Given the description of an element on the screen output the (x, y) to click on. 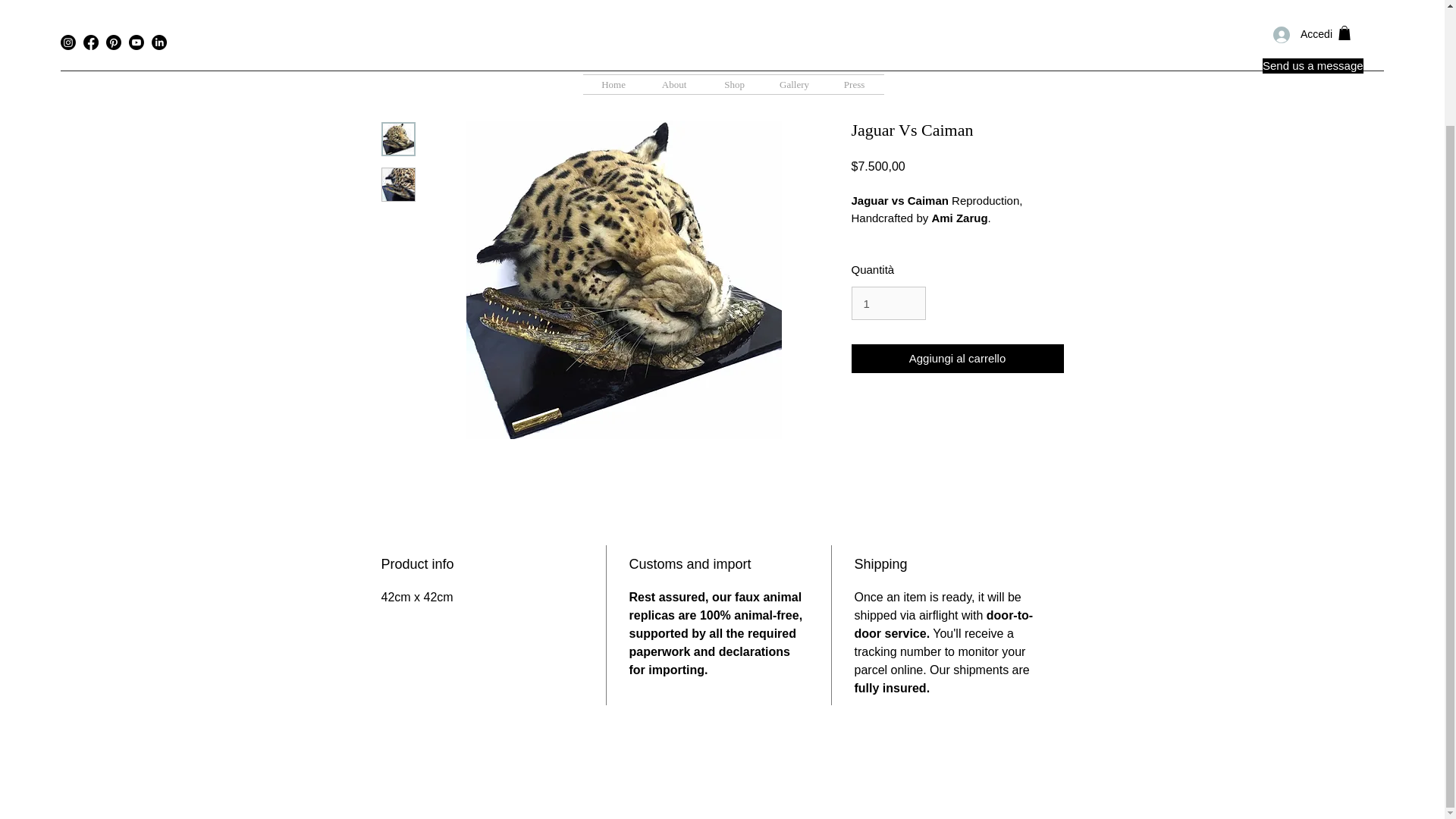
Aggiungi al carrello (956, 358)
1 (887, 303)
